Given the description of an element on the screen output the (x, y) to click on. 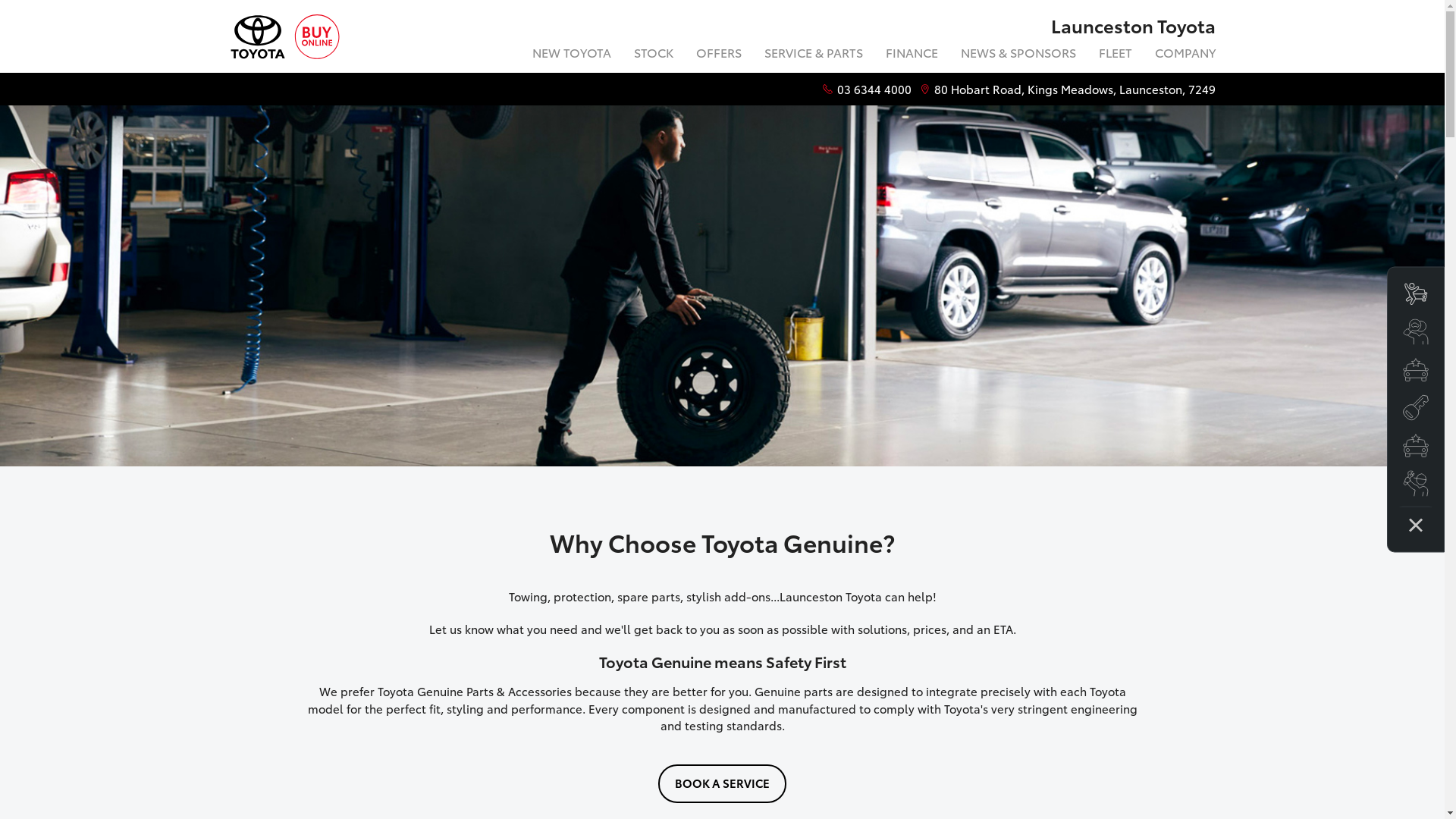
BOOK A SERVICE Element type: text (722, 783)
NEWS & SPONSORS Element type: text (1018, 54)
03 6344 4000 Element type: text (874, 88)
STOCK Element type: text (652, 54)
FINANCE Element type: text (910, 54)
80 Hobart Road, Kings Meadows, Launceston, 7249 Element type: text (1074, 88)
SERVICE & PARTS Element type: text (812, 54)
OFFERS Element type: text (718, 54)
FLEET Element type: text (1115, 54)
COMPANY Element type: text (1179, 54)
NEW TOYOTA Element type: text (570, 54)
